Given the description of an element on the screen output the (x, y) to click on. 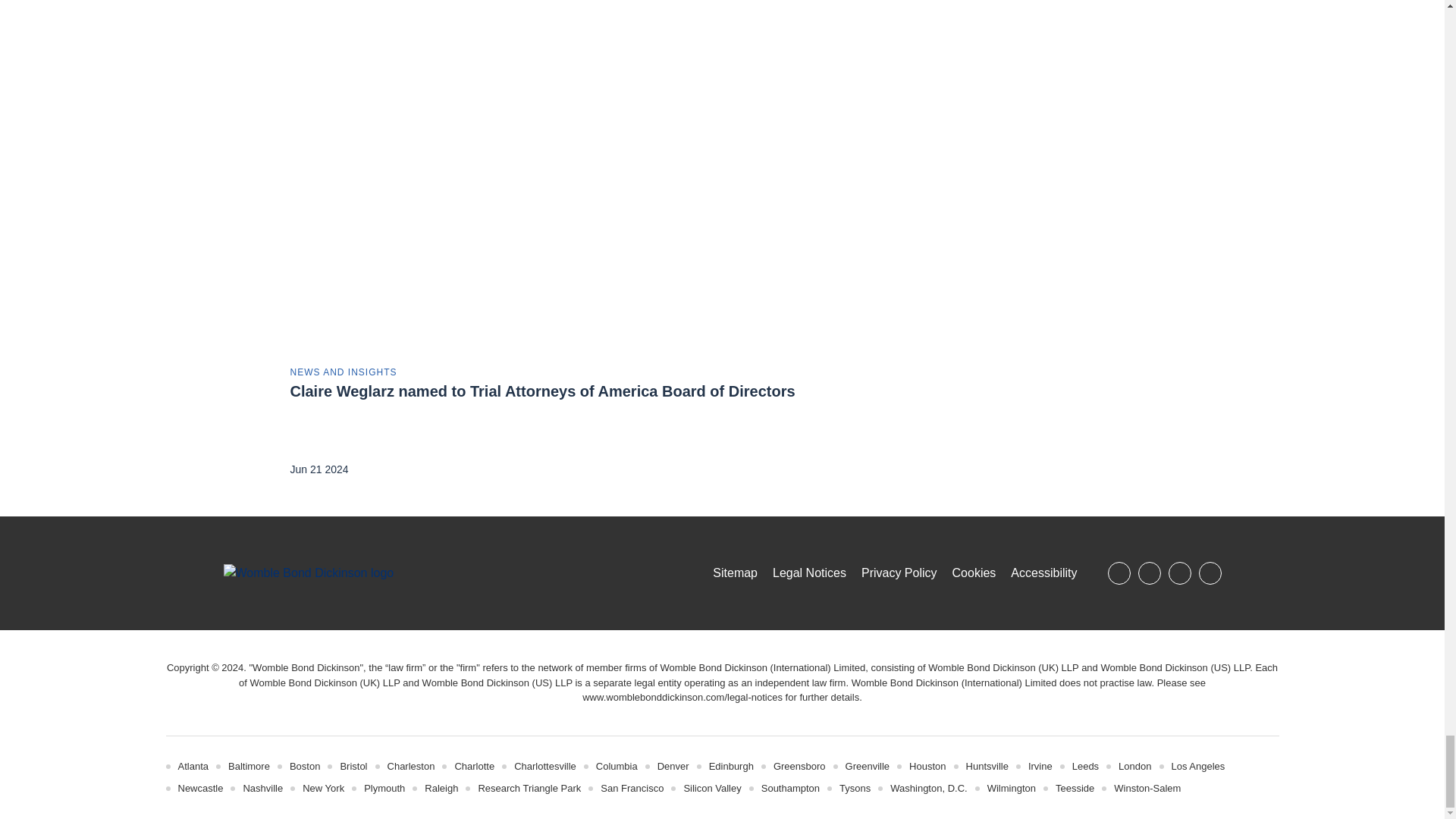
Denver, CO, US (673, 766)
Charlotte, NC, US (474, 766)
Los Angeles, CA, US (1197, 766)
Charleston, SC, US (411, 766)
Charlottesville, VA, US (544, 766)
Greensboro, NC, US (799, 766)
Houston, TX, US (926, 766)
London (1134, 766)
Leeds (1085, 766)
Bristol (352, 766)
